Given the description of an element on the screen output the (x, y) to click on. 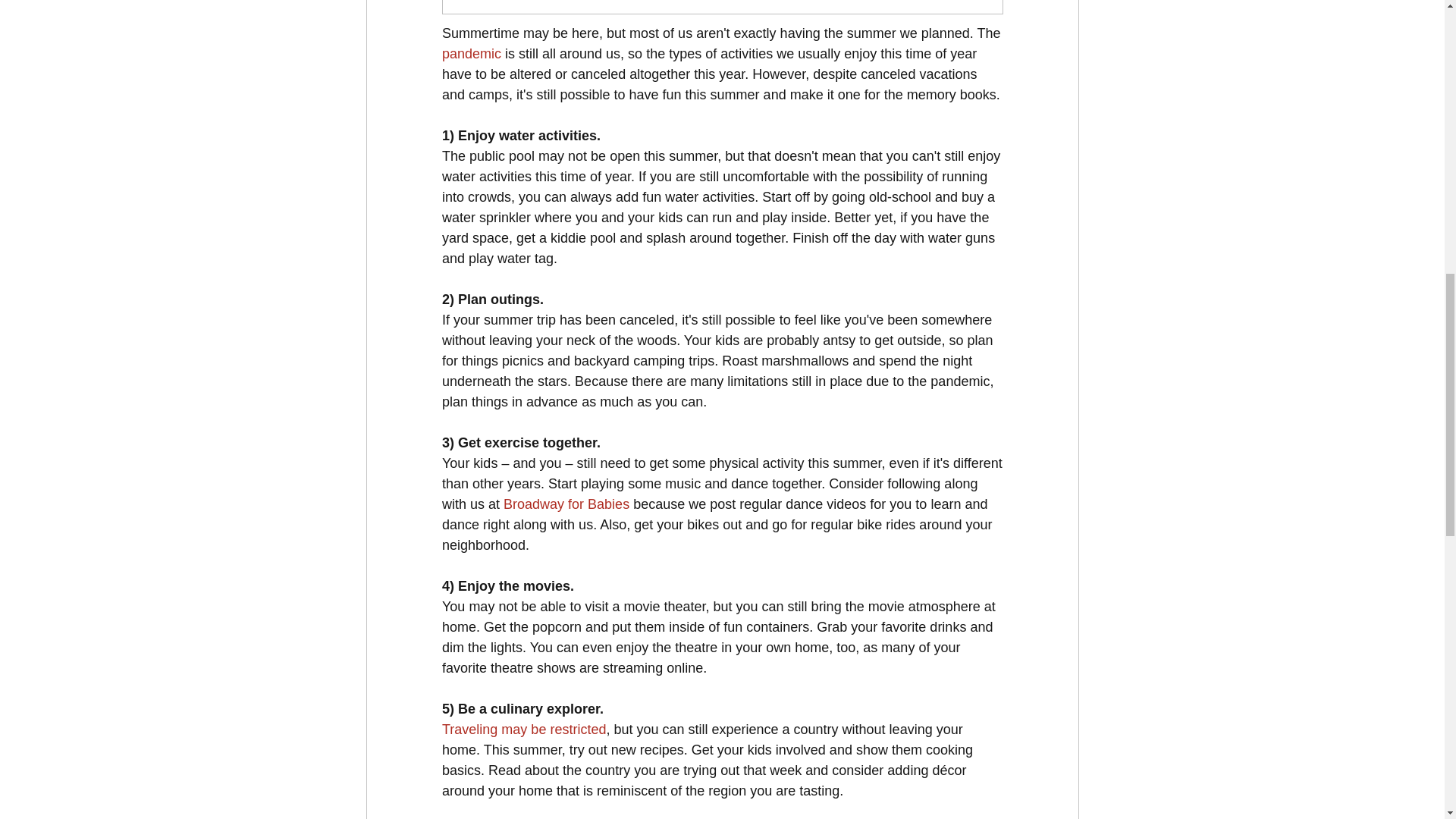
Traveling may be restricted (523, 729)
pandemic (470, 54)
Broadway for Babies (565, 504)
